Given the description of an element on the screen output the (x, y) to click on. 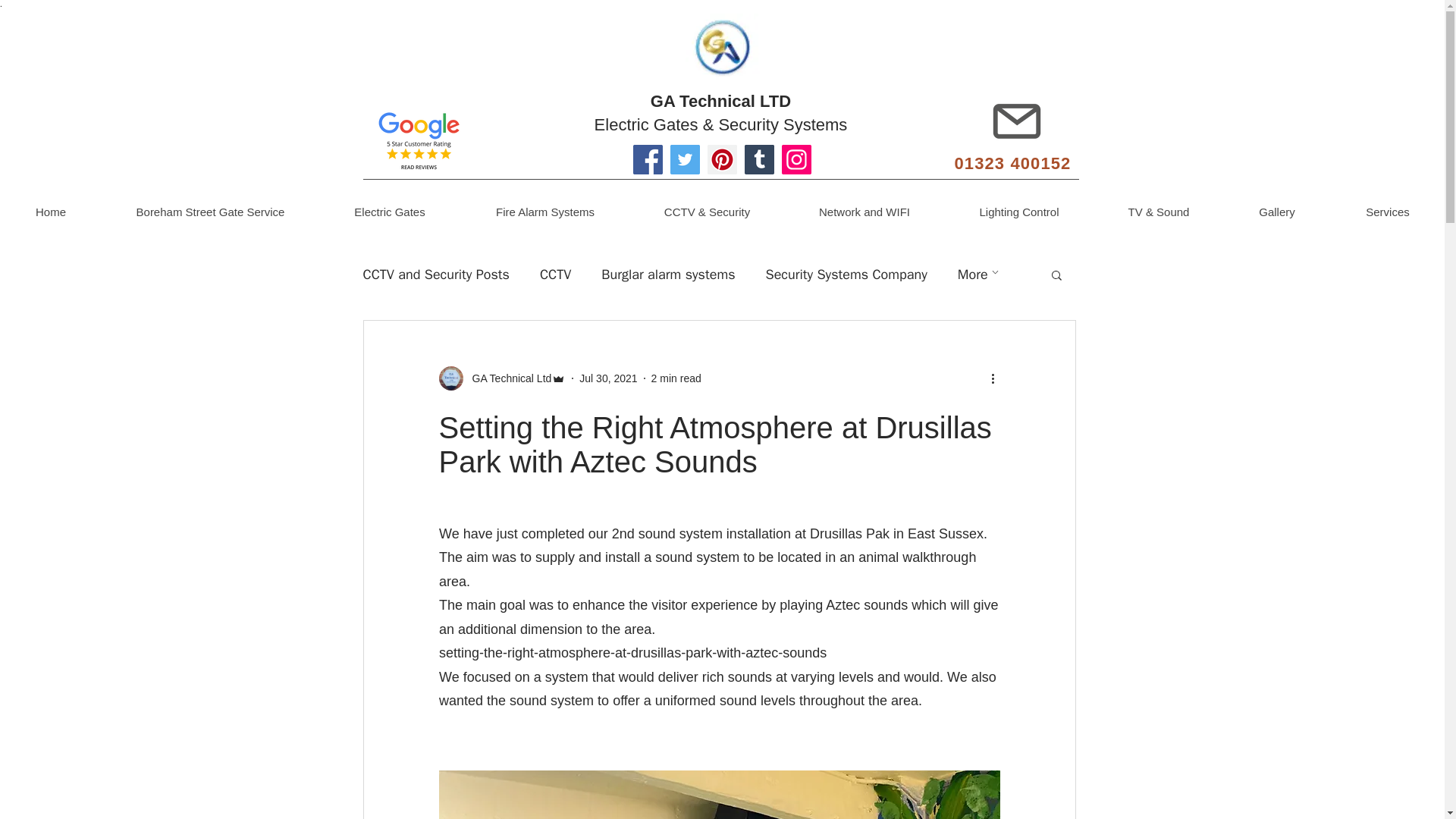
CCTV (555, 274)
Boreham Street Gate Service (209, 211)
CCTV and Security Posts (435, 274)
GA Technical Ltd (502, 378)
Burglar alarm systems (668, 274)
Send email (1016, 121)
Jul 30, 2021 (608, 377)
Electric Gates (389, 211)
Network and WIFI (863, 211)
2 min read (675, 377)
